Given the description of an element on the screen output the (x, y) to click on. 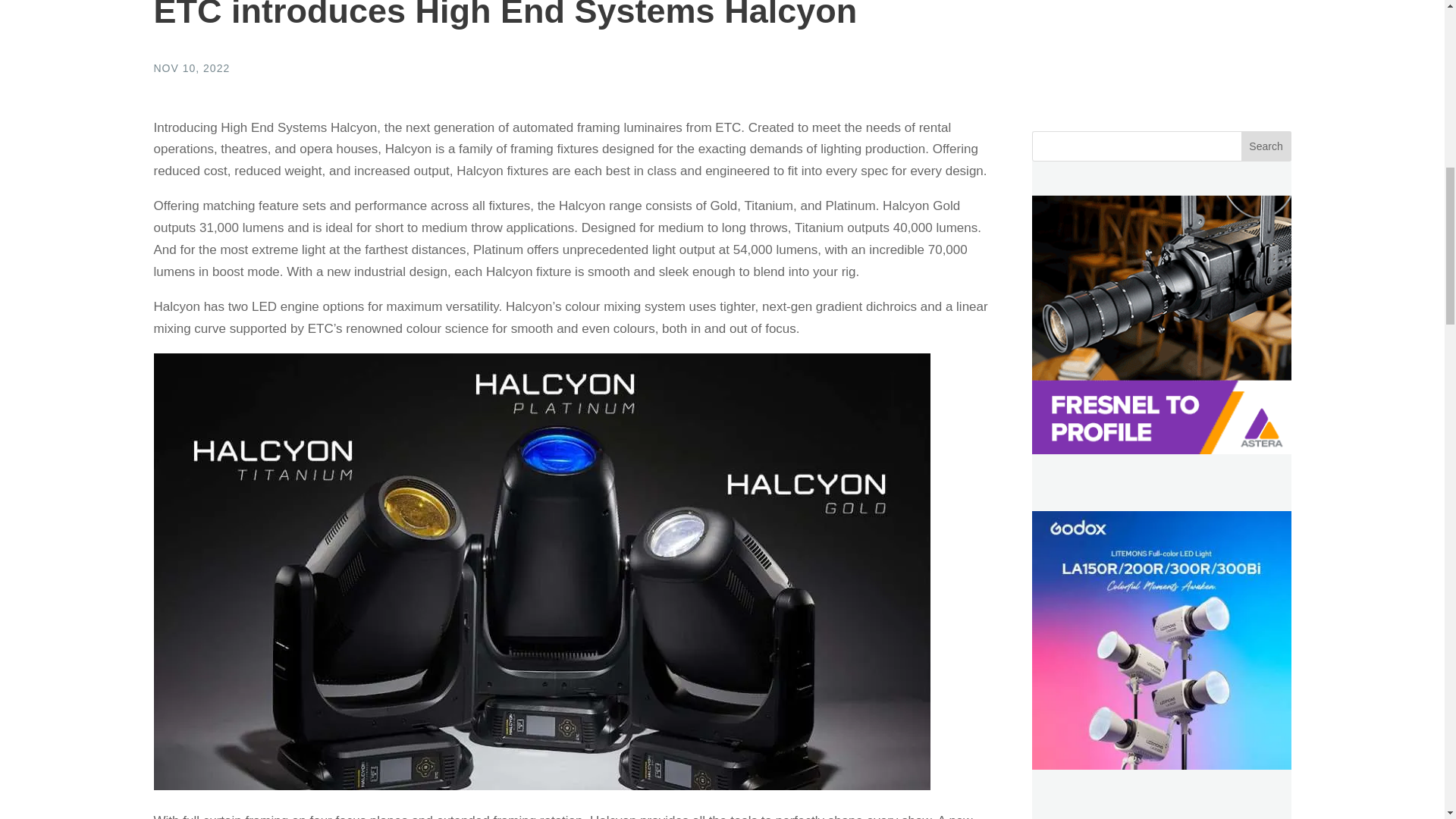
Search (1266, 146)
